Given the description of an element on the screen output the (x, y) to click on. 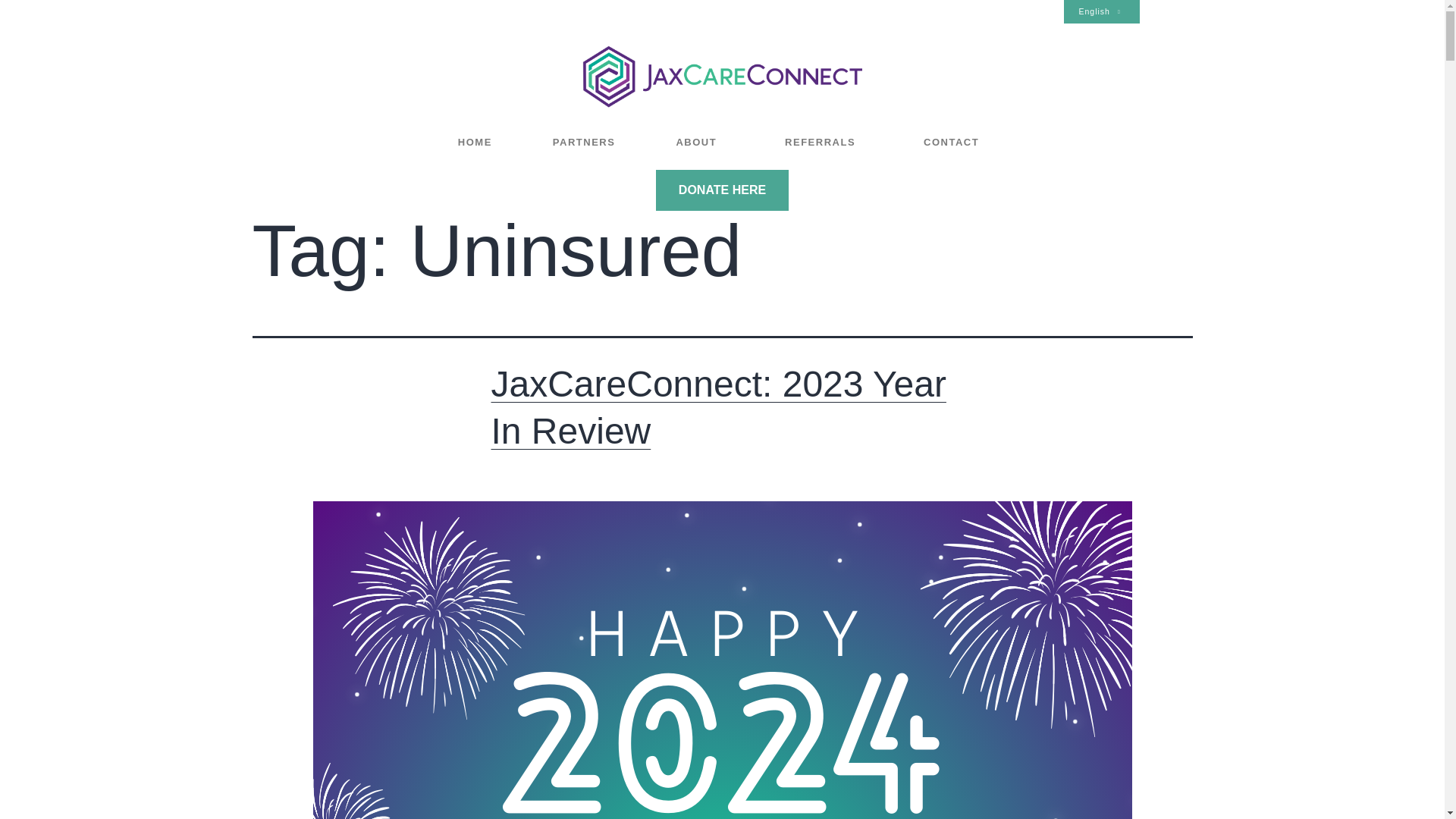
JaxCareConnect: 2023 Year In Review (719, 407)
HOME (475, 141)
REFERRALS (823, 141)
English (1100, 11)
English (1100, 11)
PARTNERS (584, 141)
JaxCareConnect-Logo-Color-horiz (722, 75)
DONATE HERE (722, 189)
ABOUT (699, 141)
CONTACT (955, 141)
